Given the description of an element on the screen output the (x, y) to click on. 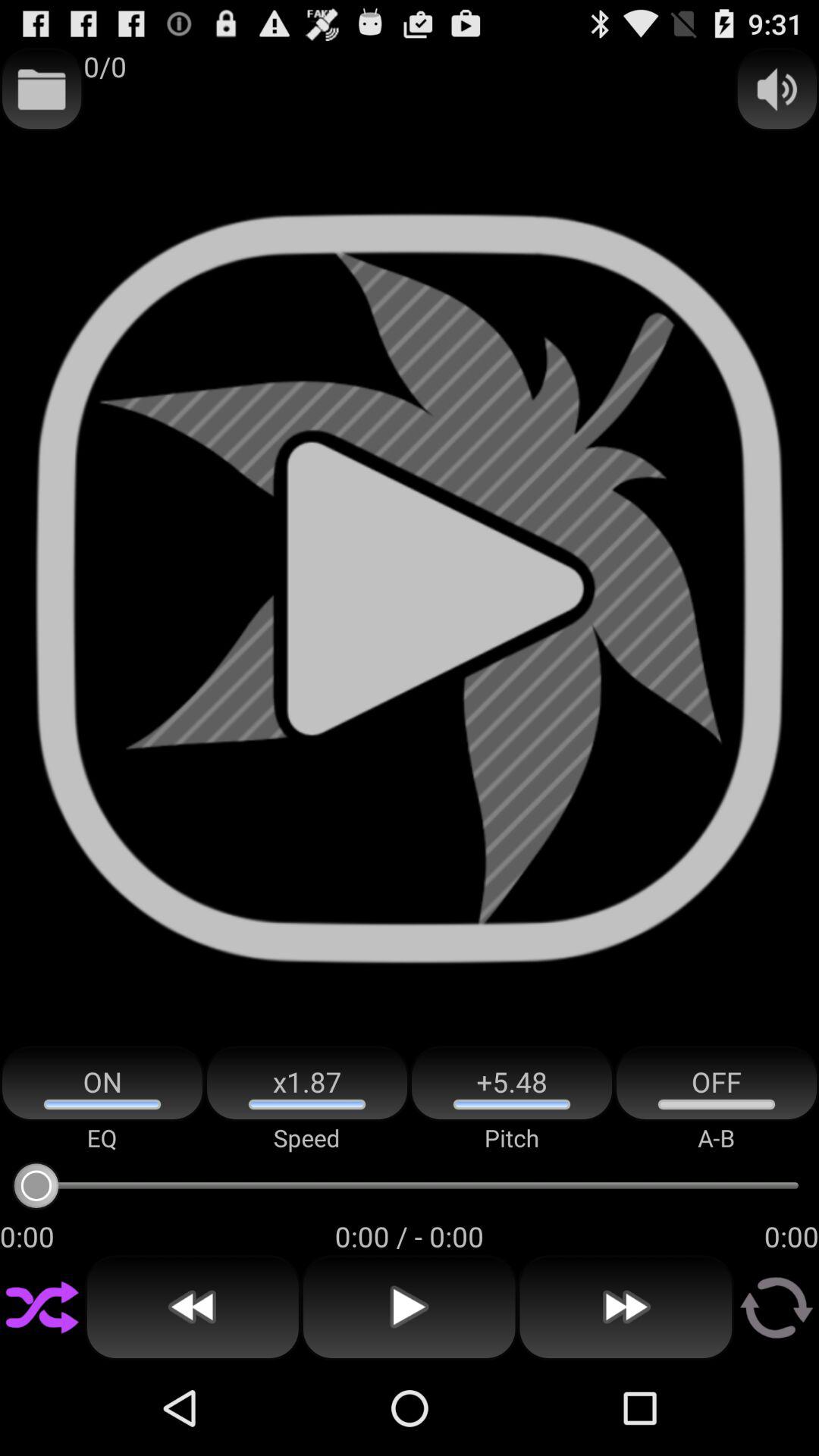
select the icon next to the on item (306, 1083)
